Given the description of an element on the screen output the (x, y) to click on. 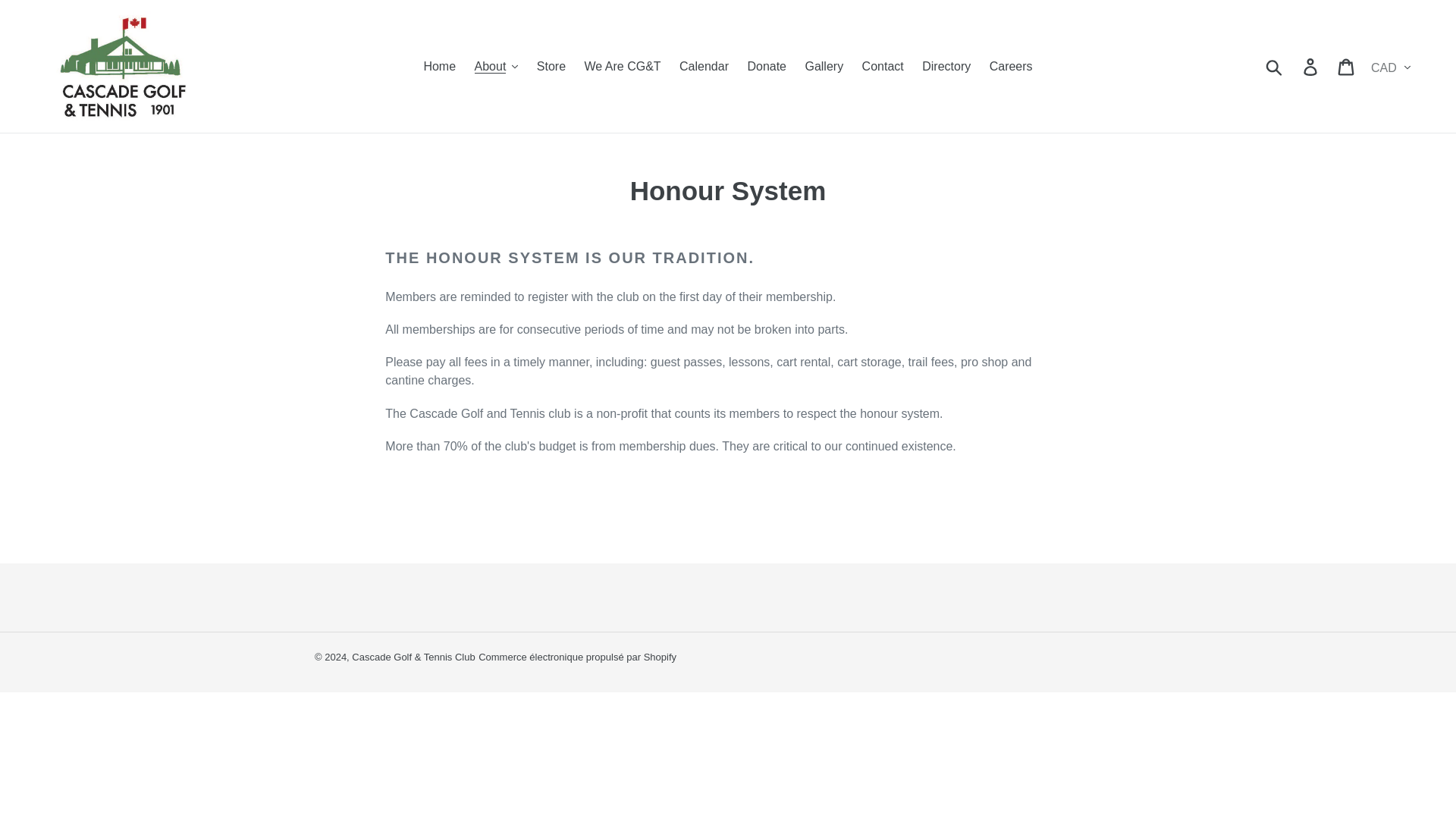
Store (551, 65)
Se connecter (1311, 65)
Panier (1347, 65)
Contact (882, 65)
Careers (1011, 65)
Gallery (823, 65)
Calendar (703, 65)
Directory (946, 65)
Soumettre (1275, 65)
Home (438, 65)
Donate (766, 65)
